Given the description of an element on the screen output the (x, y) to click on. 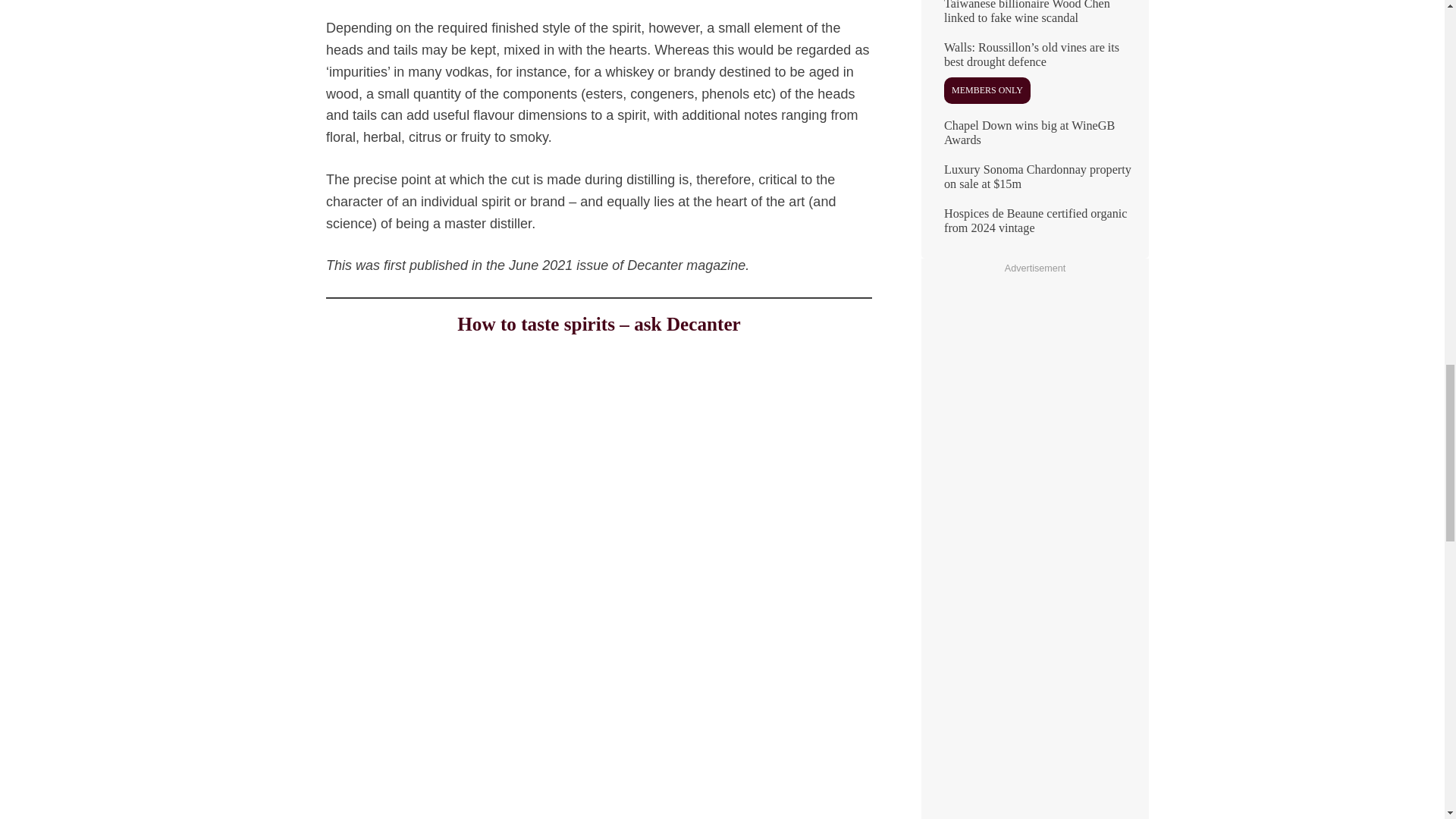
Chapel Down wins big at WineGB Awards (1035, 138)
Taiwanese billionaire Wood Chen linked to fake wine scandal (1035, 18)
Hospices de Beaune certified organic from 2024 vintage (1035, 227)
